Given the description of an element on the screen output the (x, y) to click on. 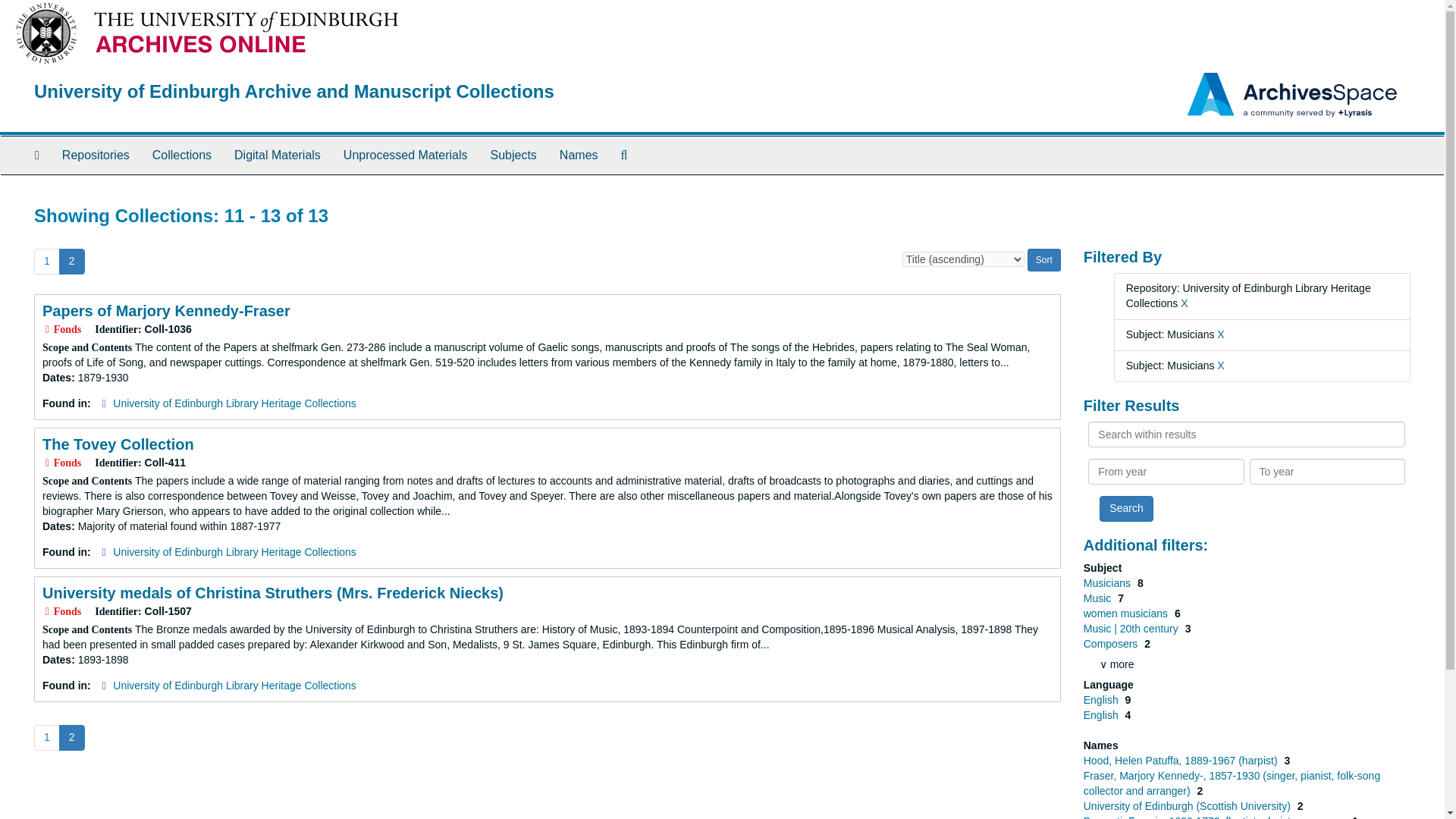
Archives Space at Edinburgh (252, 32)
Subjects (513, 155)
Names (579, 155)
Filter By 'Musicians' (1108, 582)
Filter By 'Music' (1098, 598)
Music (1098, 598)
University of Edinburgh Website (45, 32)
women musicians (1126, 613)
Sort (1044, 259)
Digital Materials (276, 155)
Filter By 'Composers' (1111, 644)
1 (46, 261)
University of Edinburgh Archive and Manuscript Collections (293, 91)
Papers of Marjory Kennedy-Fraser (165, 310)
Archives Space at Edinburgh (293, 91)
